Given the description of an element on the screen output the (x, y) to click on. 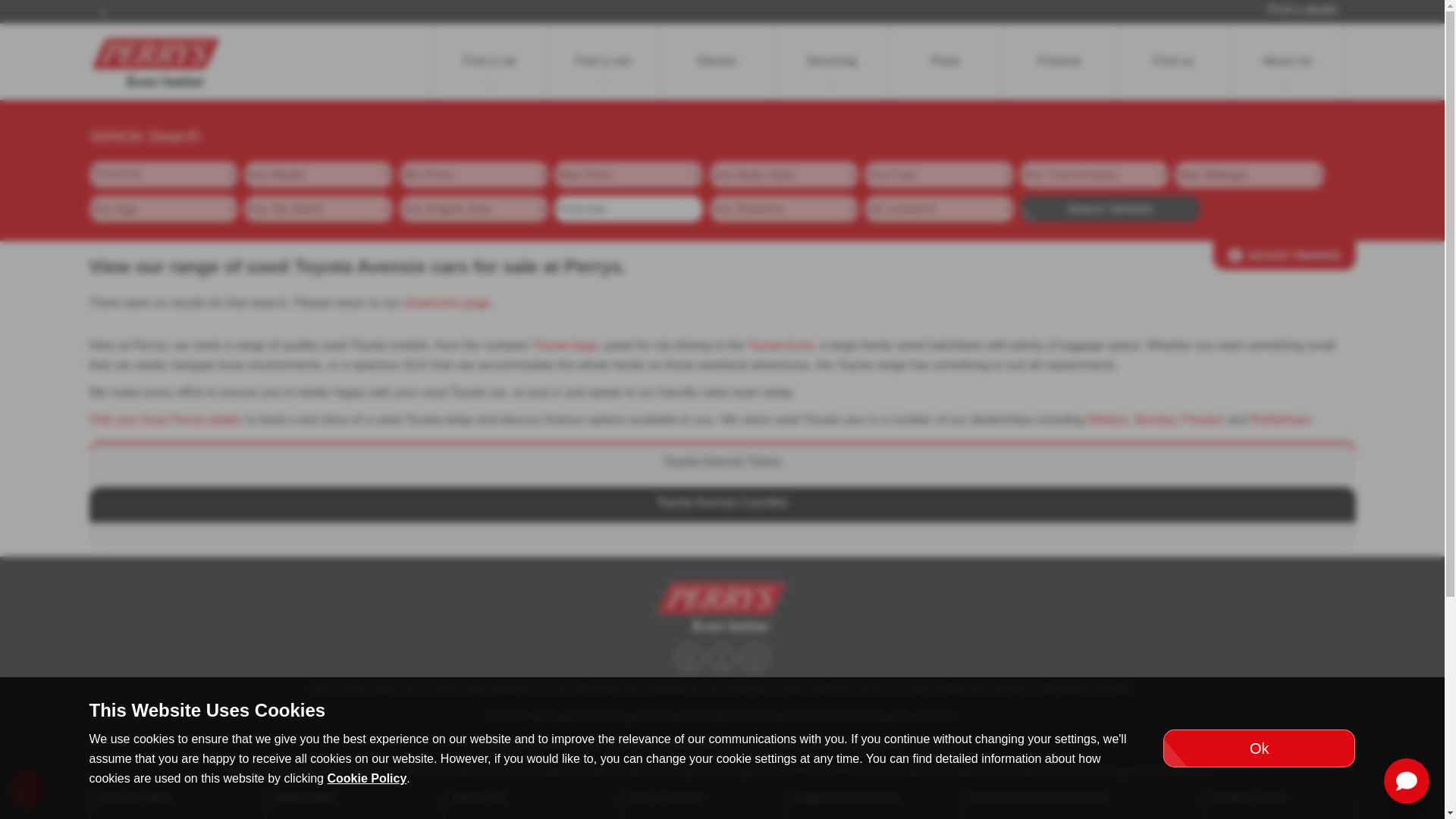
Find a dealer (1303, 9)
Electric (717, 61)
Servicing (831, 61)
Finance (1059, 61)
Parts (944, 61)
Find us (1173, 61)
